Given the description of an element on the screen output the (x, y) to click on. 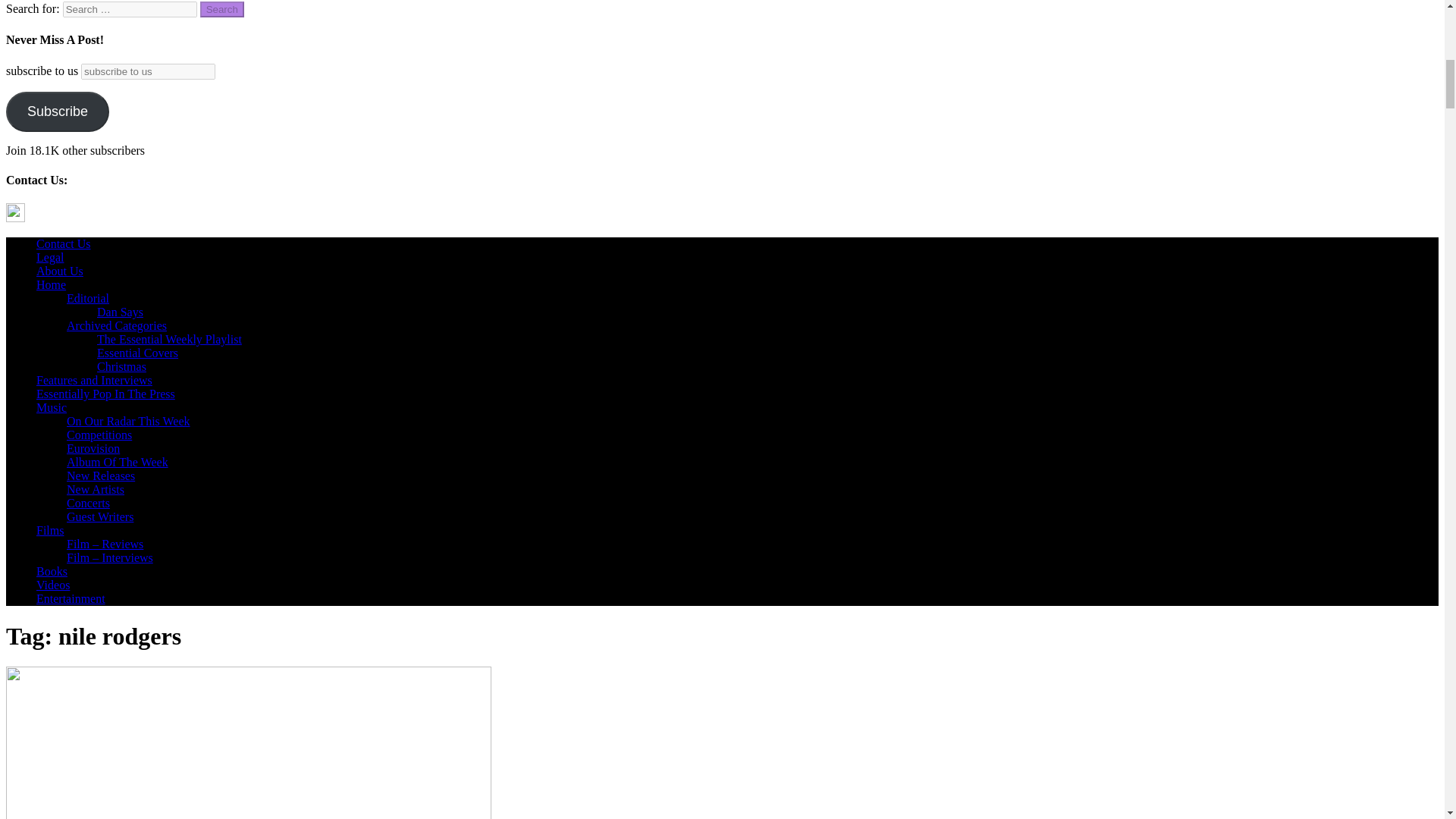
Editorial (87, 297)
Concerts (88, 502)
Music (51, 407)
Archived Categories (116, 325)
Album Of The Week (117, 461)
Eurovision (92, 448)
Home (50, 284)
Search (222, 9)
About Us (59, 270)
Legal (50, 256)
